Given the description of an element on the screen output the (x, y) to click on. 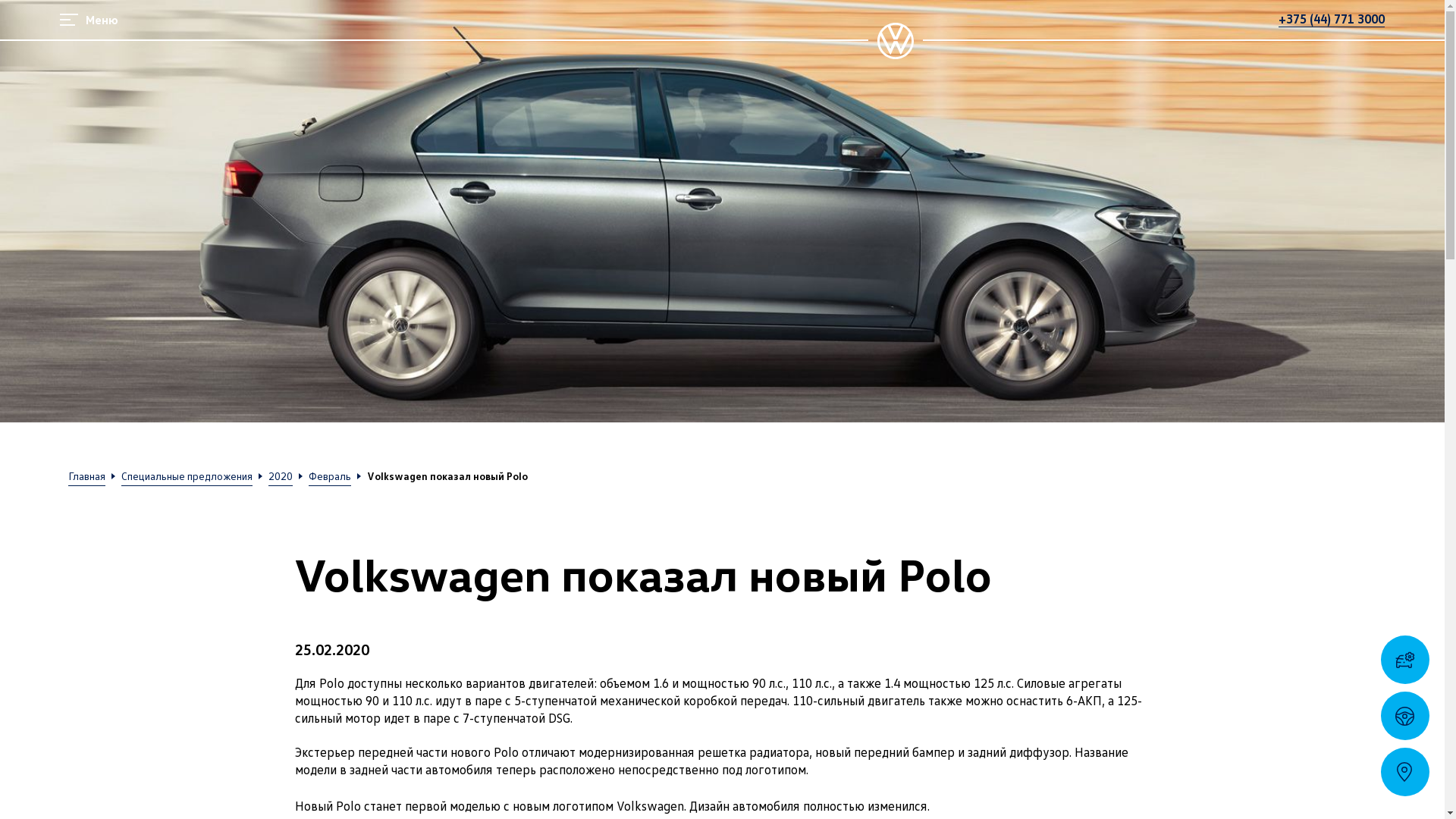
2020 Element type: text (280, 476)
+375 (44) 771 3000 Element type: text (1331, 18)
